Given the description of an element on the screen output the (x, y) to click on. 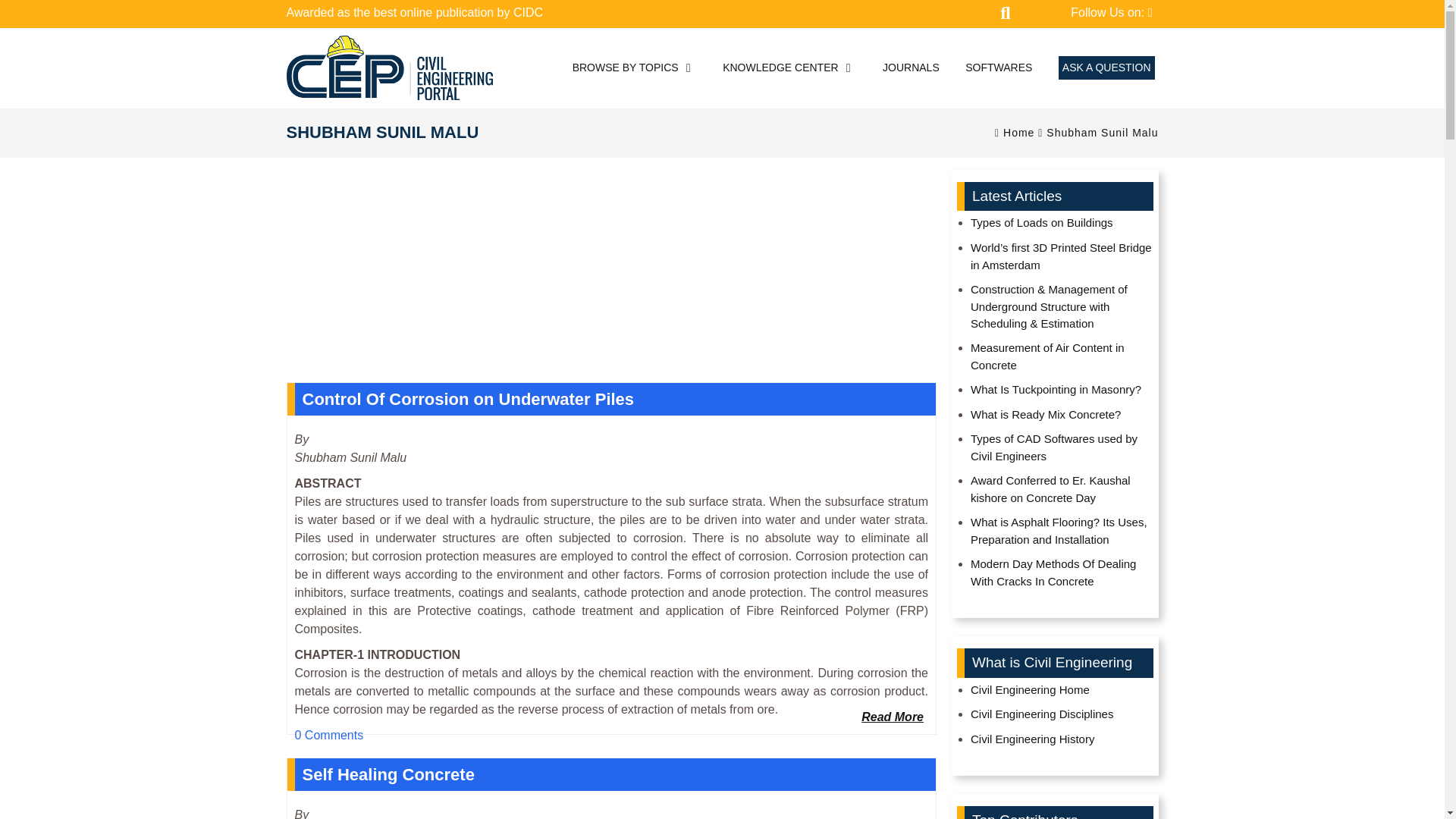
Follow Us on: (1110, 13)
